Given the description of an element on the screen output the (x, y) to click on. 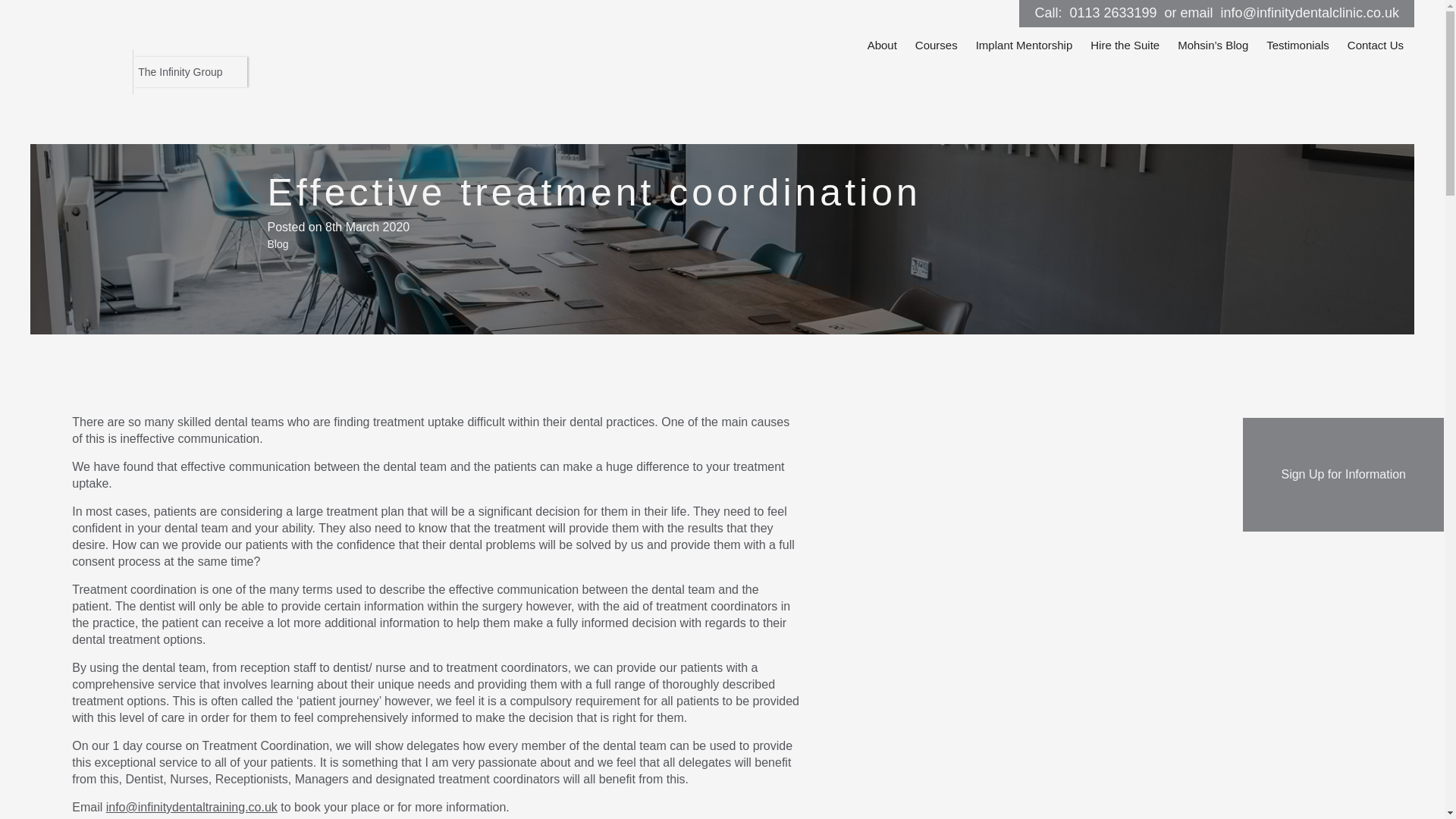
Implant Mentorship (1024, 45)
Contact Us (1374, 45)
Testimonials (1297, 45)
Courses (936, 45)
The Infinity Group (190, 71)
Blog (277, 244)
0113 2633199 (1112, 12)
About (882, 45)
Hire the Suite (1125, 45)
